Given the description of an element on the screen output the (x, y) to click on. 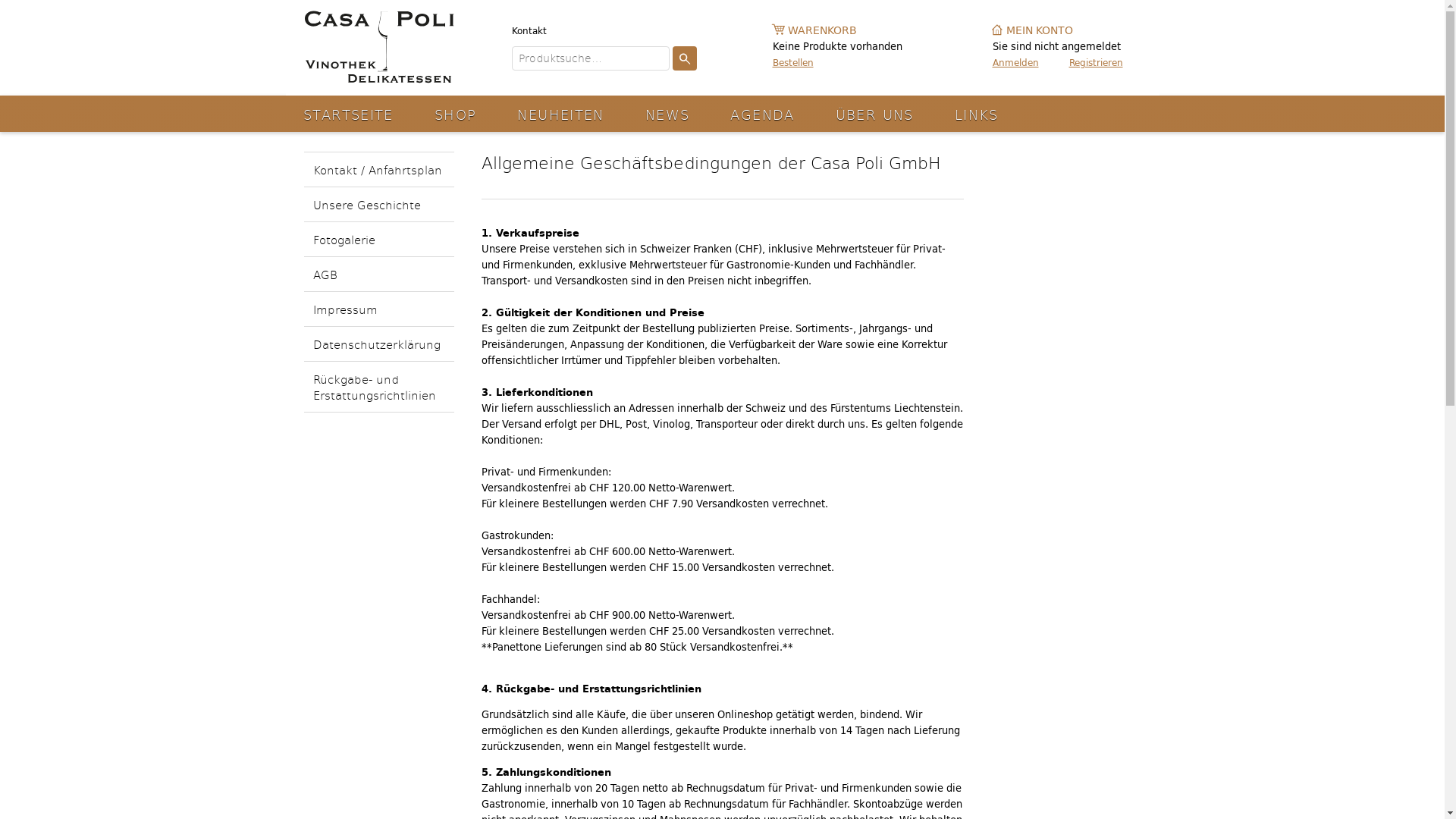
LINKS Element type: text (976, 113)
Anmelden Element type: text (1014, 62)
Kontakt Element type: text (528, 30)
Impressum Element type: text (378, 308)
SHOP Element type: text (455, 113)
MEIN KONTO Element type: text (1066, 30)
Kontakt / Anfahrtsplan Element type: text (378, 169)
AGENDA Element type: text (761, 113)
Fotogalerie Element type: text (378, 239)
WARENKORB Element type: text (837, 30)
Registrieren Element type: text (1096, 62)
Bestellen Element type: text (837, 62)
AGB Element type: text (378, 274)
Suchen Element type: text (683, 58)
STARTSEITE Element type: text (348, 113)
Unsere Geschichte Element type: text (378, 204)
NEWS Element type: text (667, 113)
NEUHEITEN Element type: text (560, 113)
